Given the description of an element on the screen output the (x, y) to click on. 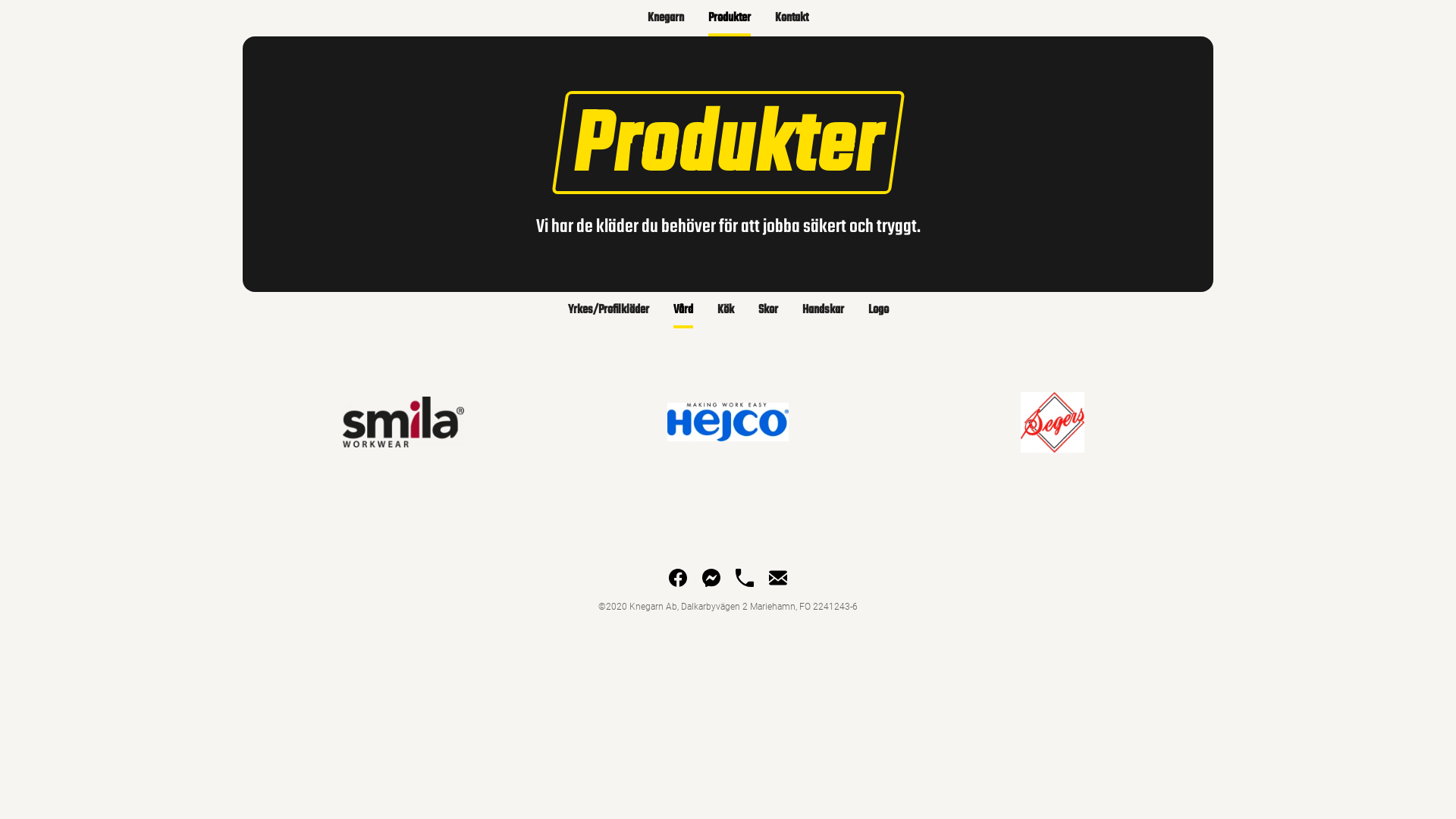
Kontakt Element type: text (791, 18)
Facebook Element type: text (677, 577)
Phone Element type: text (744, 577)
Messenger Element type: text (711, 577)
Logo Element type: text (877, 309)
Handskar Element type: text (823, 309)
Produkter Element type: text (729, 18)
Skor Element type: text (768, 309)
Knegarn Element type: text (665, 18)
E-Mail Element type: text (777, 577)
